Given the description of an element on the screen output the (x, y) to click on. 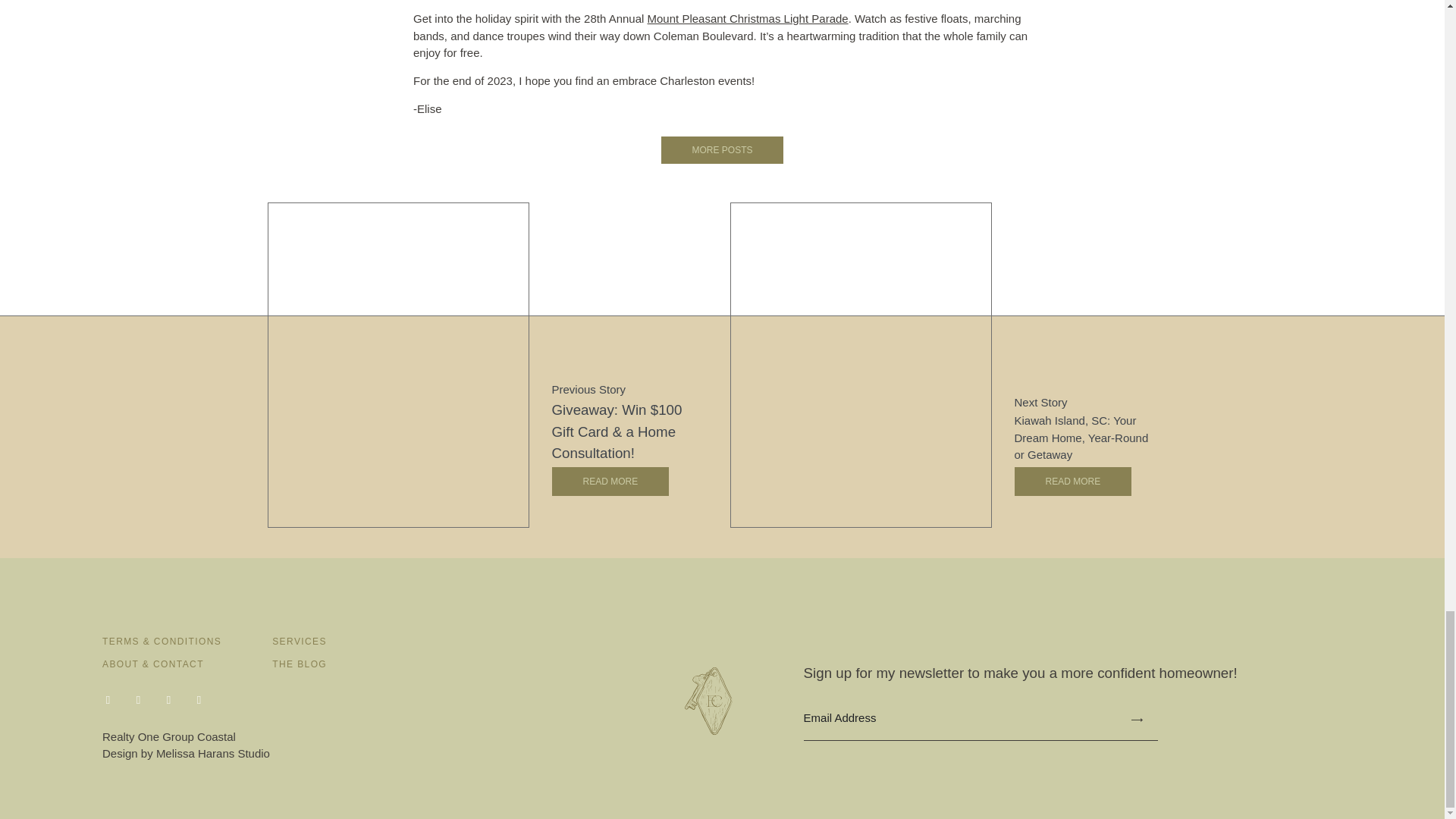
READ MORE (1073, 481)
THE BLOG (299, 663)
SERVICES (299, 641)
MORE POSTS (722, 149)
Mount Pleasant Christmas Light Parade (747, 18)
READ MORE (610, 481)
